Given the description of an element on the screen output the (x, y) to click on. 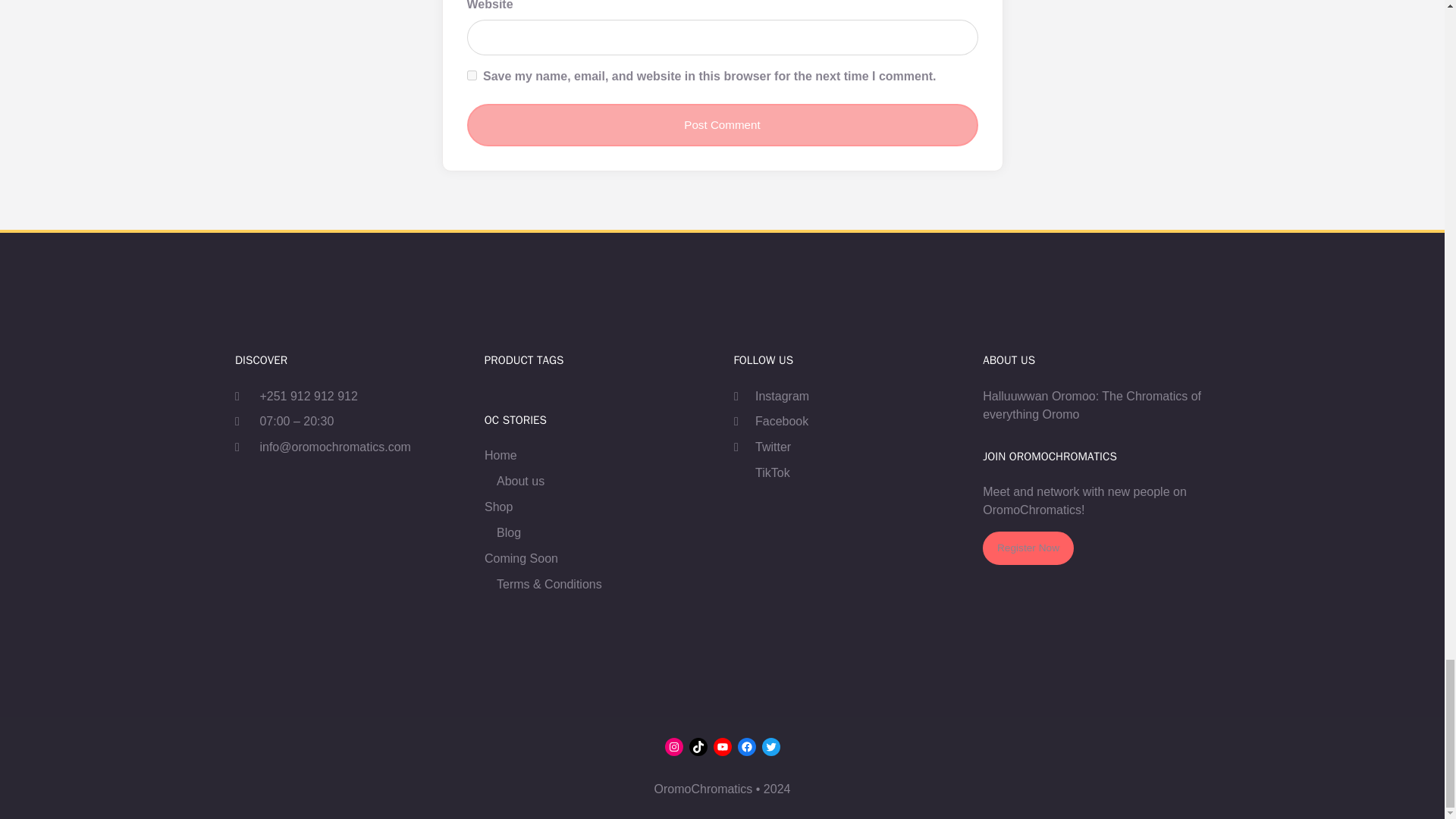
TikTok (761, 473)
Home (500, 455)
Blog (508, 533)
Post Comment (722, 125)
yes (472, 75)
Facebook (770, 421)
Twitter (761, 447)
Instagram (771, 396)
Post Comment (722, 125)
About us (520, 481)
Shop (498, 506)
Coming Soon (520, 558)
